Given the description of an element on the screen output the (x, y) to click on. 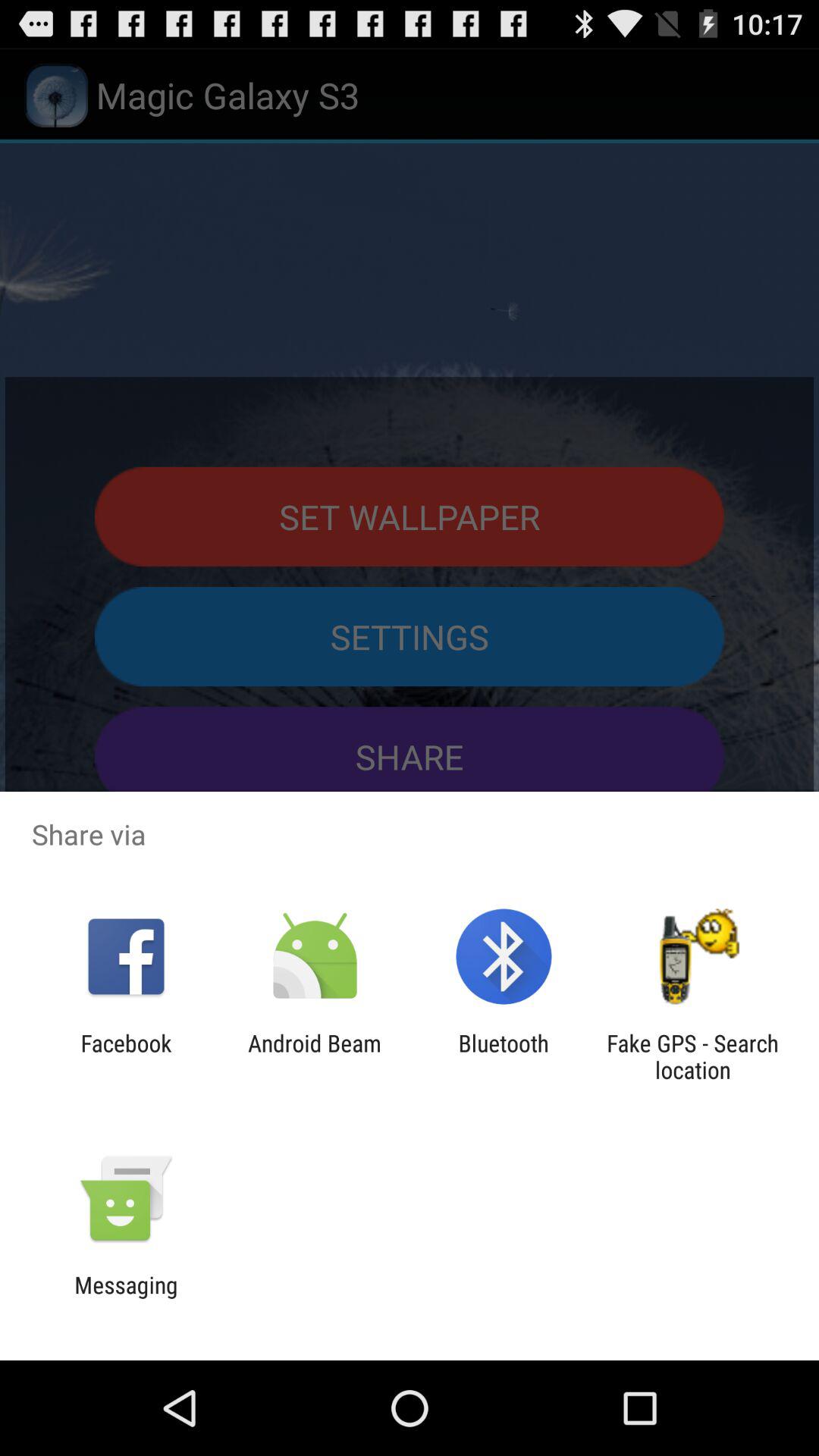
press the item to the right of the facebook app (314, 1056)
